Given the description of an element on the screen output the (x, y) to click on. 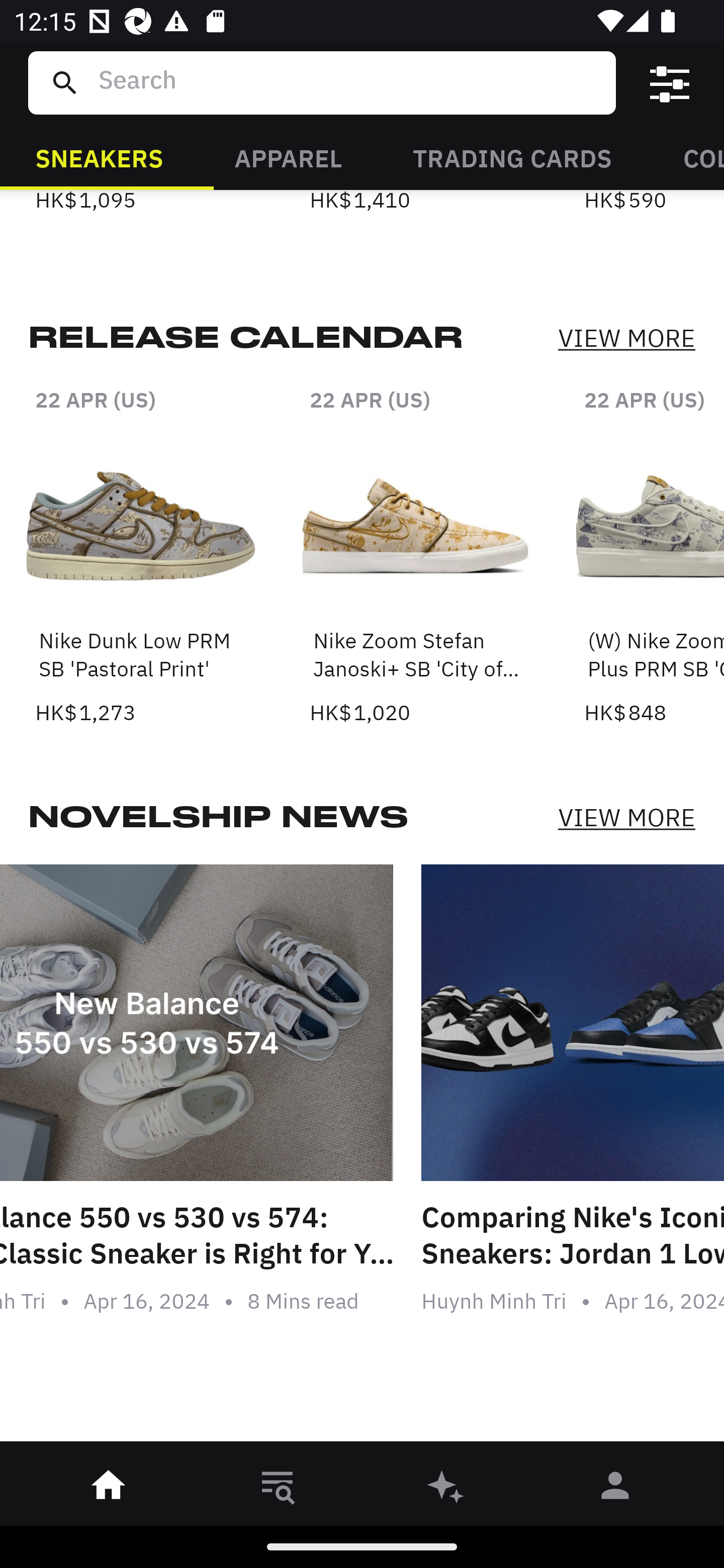
Search (349, 82)
 (669, 82)
SNEAKERS (99, 156)
APPAREL (287, 156)
TRADING CARDS (512, 156)
VIEW MORE (626, 338)
VIEW MORE (626, 816)
󰋜 (108, 1488)
󱎸 (277, 1488)
󰫢 (446, 1488)
󰀄 (615, 1488)
